Given the description of an element on the screen output the (x, y) to click on. 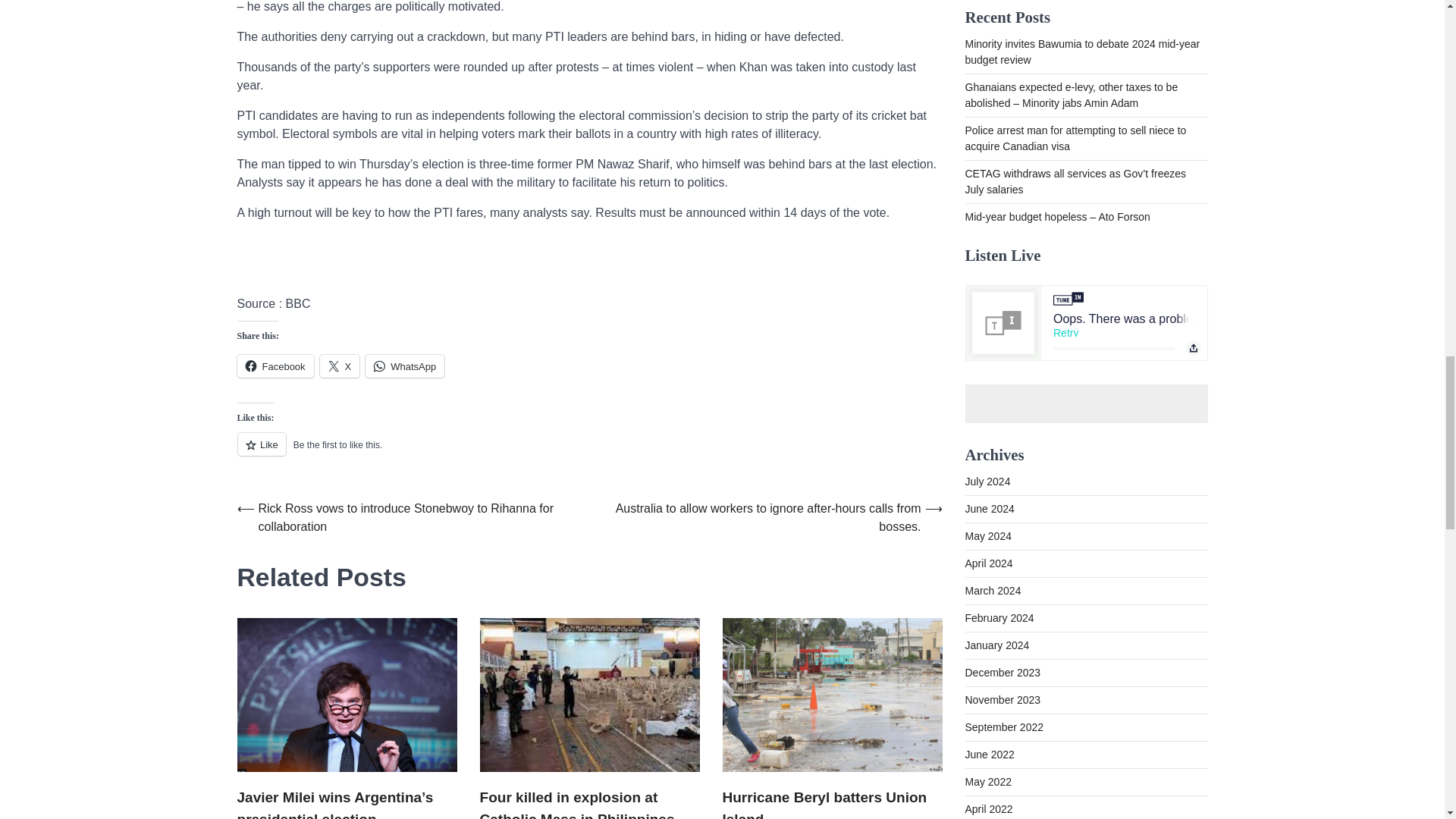
Like or Reblog (588, 453)
Click to share on WhatsApp (404, 365)
Click to share on Facebook (274, 365)
WhatsApp (404, 365)
X (339, 365)
Facebook (274, 365)
Four killed in explosion at Catholic Mass in Philippines. (588, 803)
Click to share on X (339, 365)
